Given the description of an element on the screen output the (x, y) to click on. 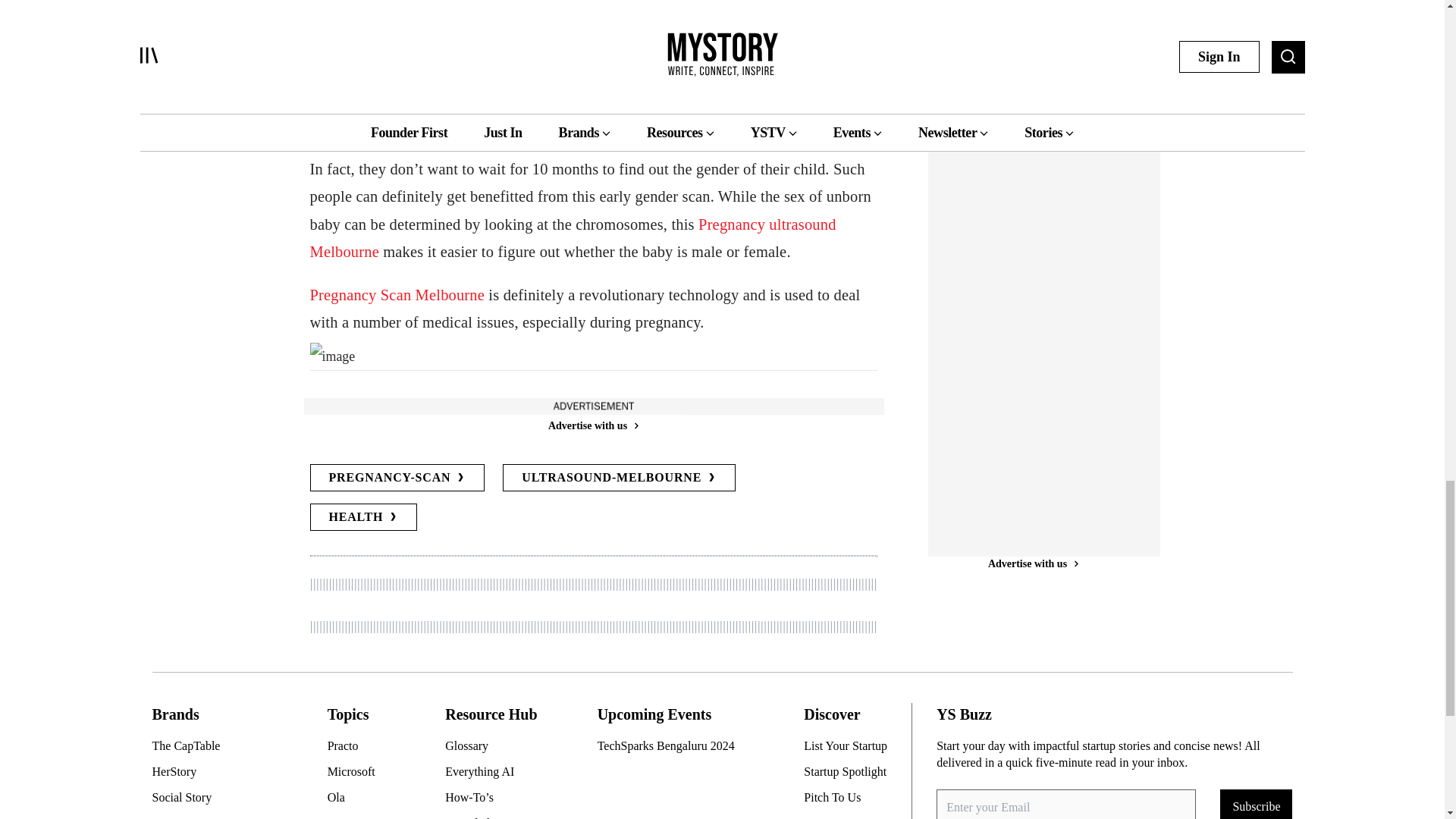
Pregnancy ultrasound Melbourne (571, 238)
ULTRASOUND-MELBOURNE (618, 477)
HEALTH (362, 516)
PREGNANCY-SCAN (396, 477)
Advertise with us (1032, 400)
Pregnancy Scan Melbourne (396, 294)
Advertise with us (592, 425)
